Given the description of an element on the screen output the (x, y) to click on. 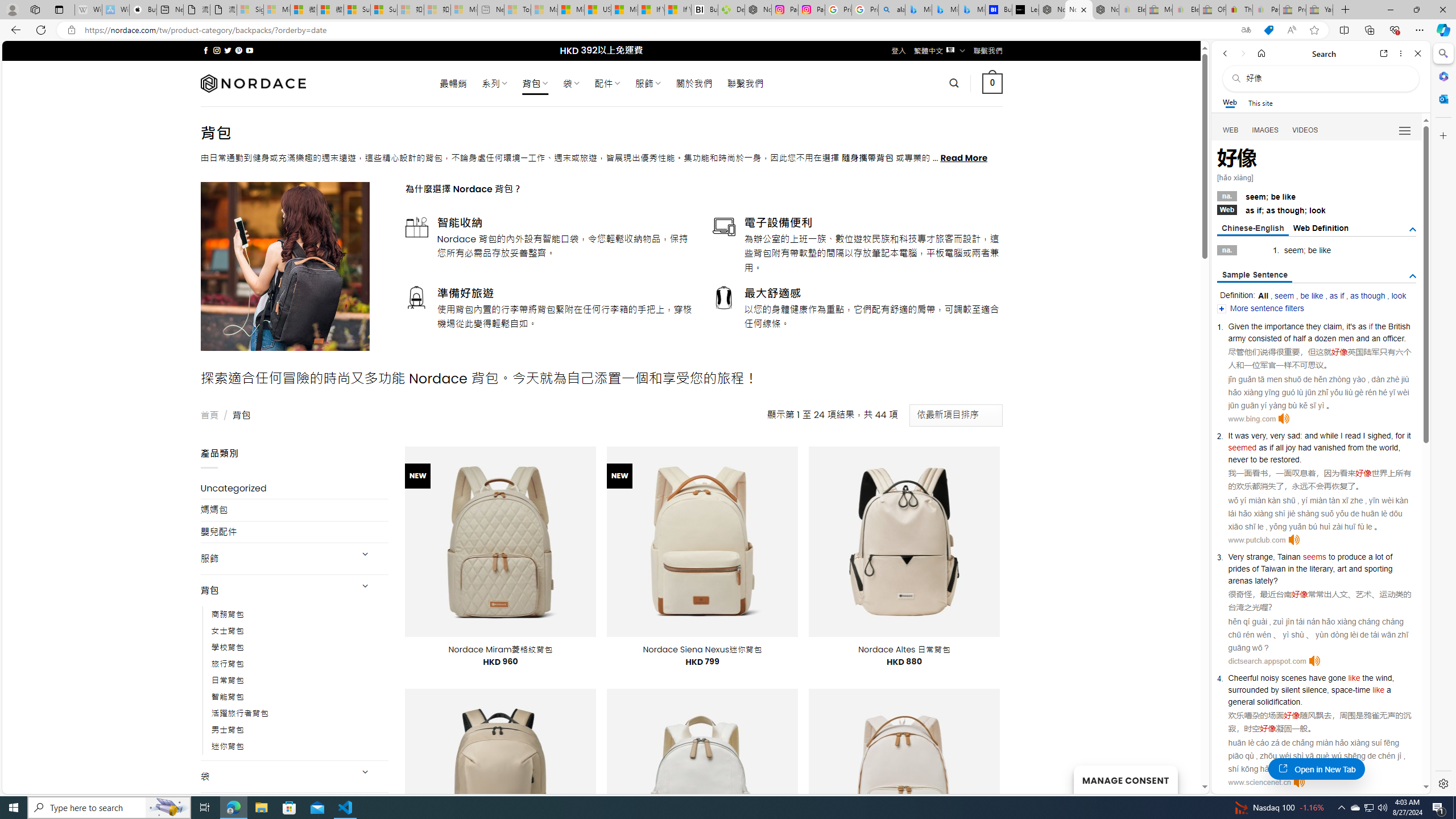
gone (1336, 677)
noisy (1269, 677)
